Given the description of an element on the screen output the (x, y) to click on. 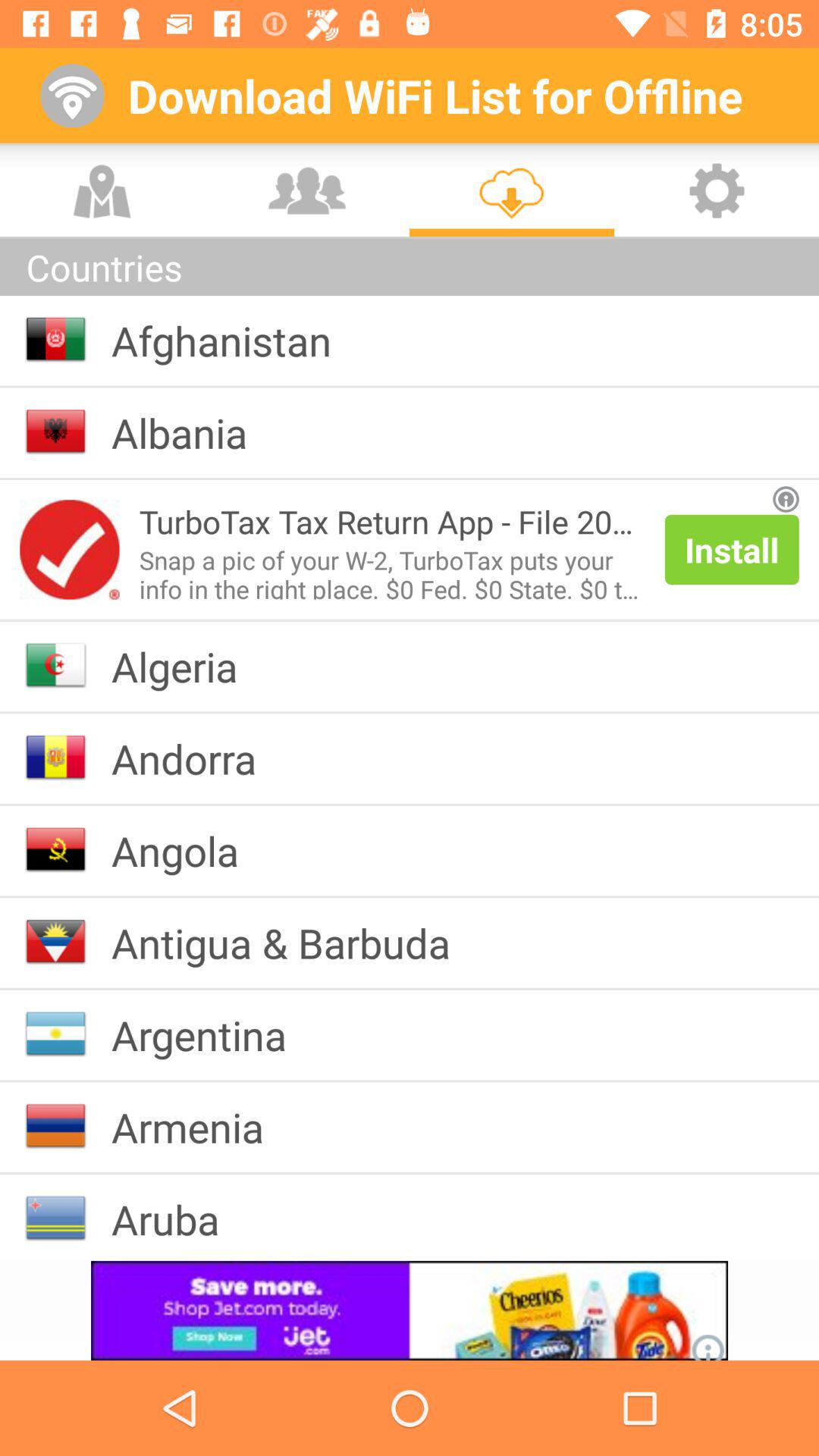
choose app below armenia item (177, 1218)
